Given the description of an element on the screen output the (x, y) to click on. 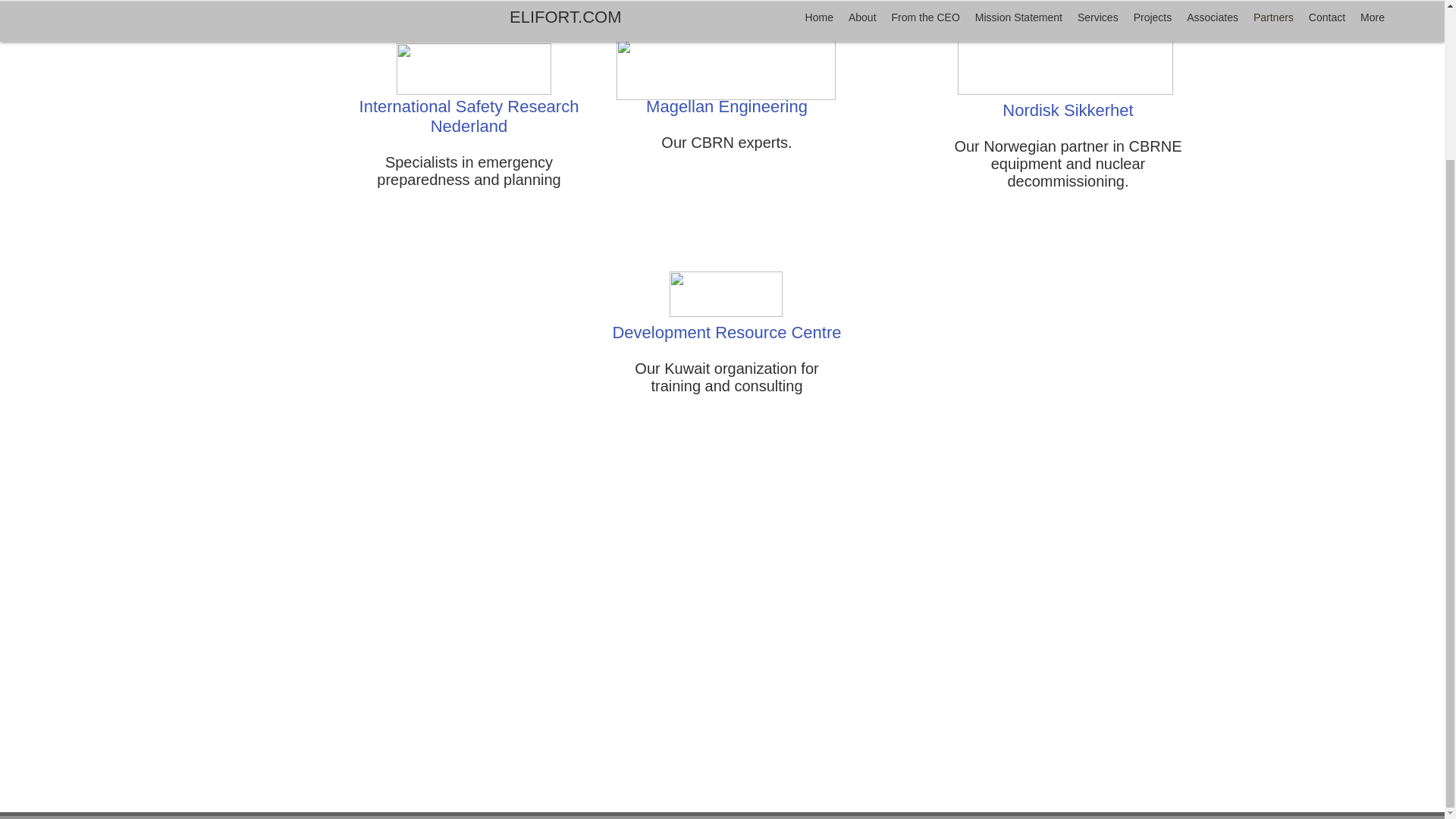
Slide1.jpg (473, 68)
DRC.jpg (724, 293)
